Given the description of an element on the screen output the (x, y) to click on. 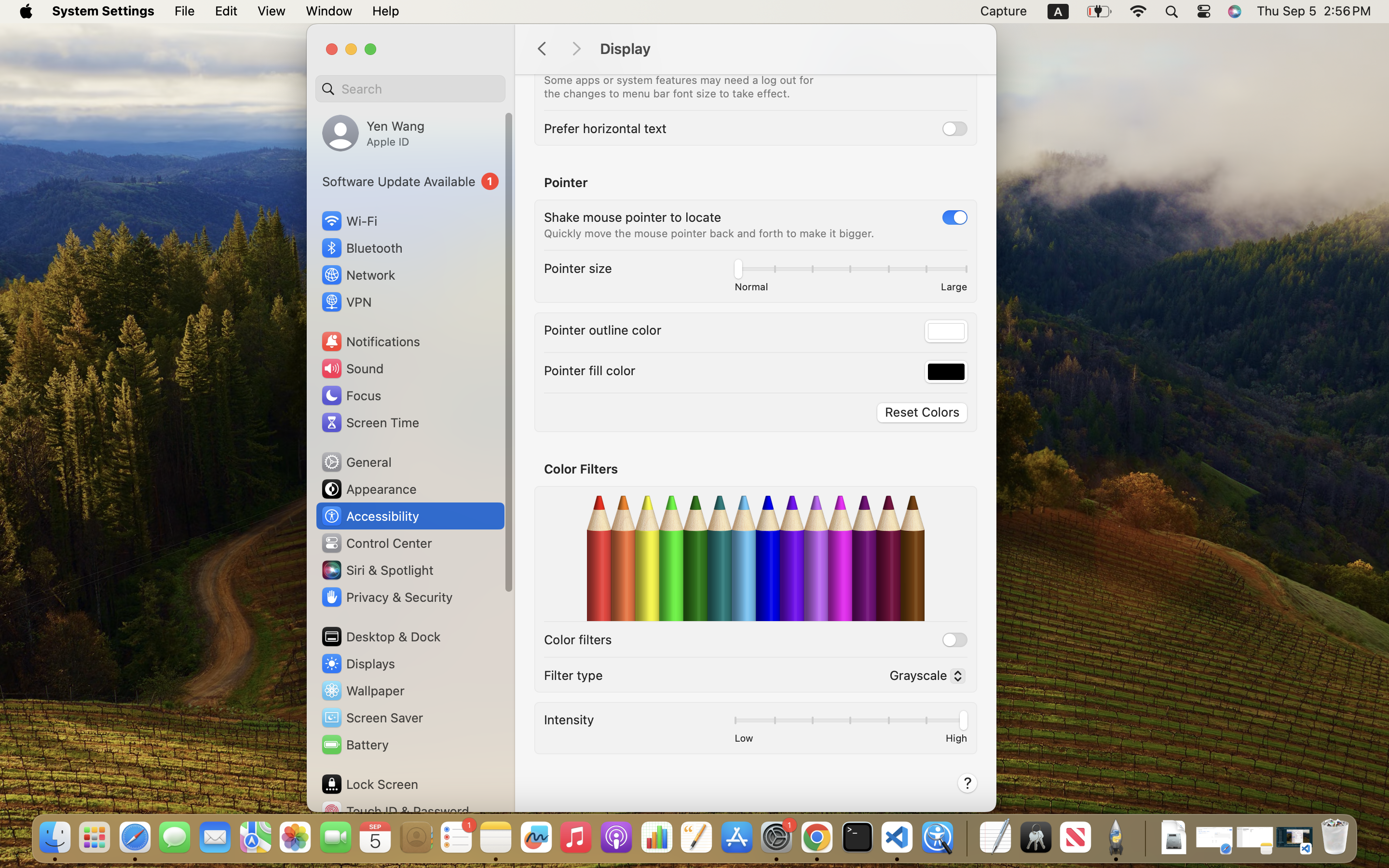
Wi‑Fi Element type: AXStaticText (348, 220)
Network Element type: AXStaticText (357, 274)
1 Element type: AXStaticText (410, 180)
Notifications Element type: AXStaticText (370, 340)
Sound Element type: AXStaticText (351, 367)
